Given the description of an element on the screen output the (x, y) to click on. 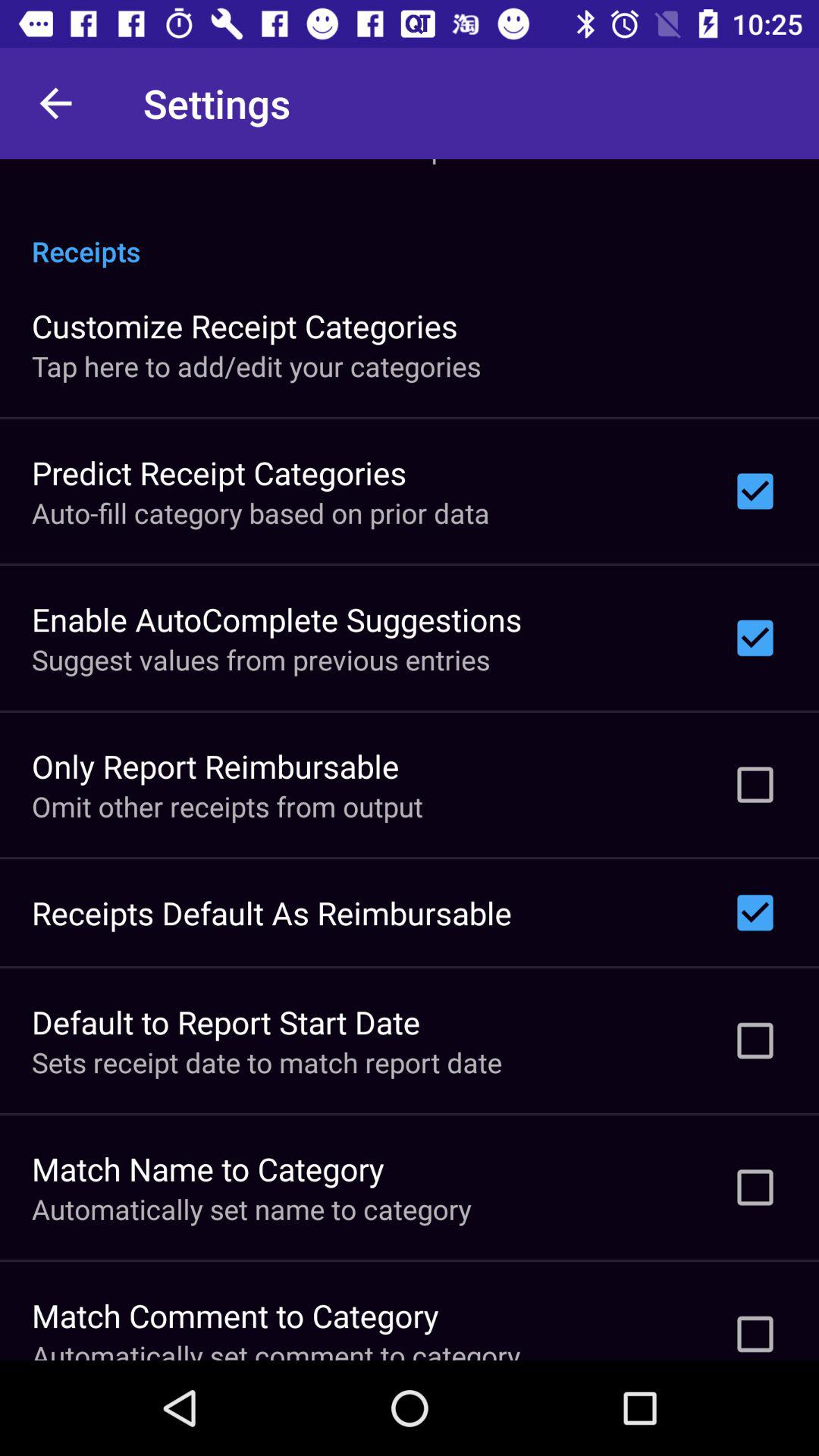
press item above omit other receipts icon (215, 765)
